Given the description of an element on the screen output the (x, y) to click on. 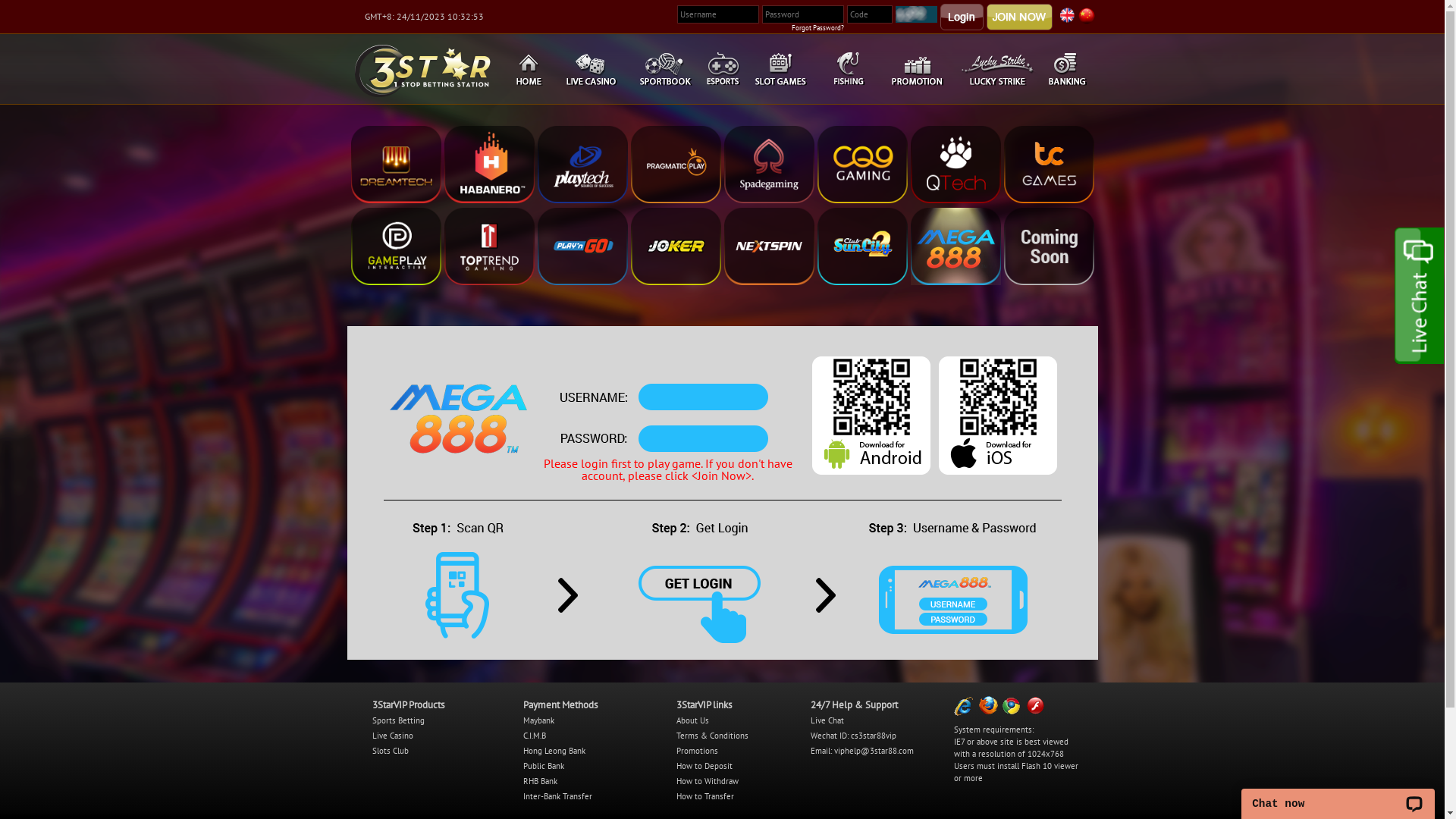
Live Casino Element type: text (391, 735)
Terms & Conditions Element type: text (712, 735)
Promotions Element type: text (697, 750)
How to Withdraw Element type: text (707, 780)
Forgot Password? Element type: text (817, 27)
24/7 Help & Support Element type: text (853, 704)
About Us Element type: text (692, 720)
How to Transfer Element type: text (705, 795)
Slots Club Element type: text (389, 750)
Live Chat Element type: text (826, 720)
How to Deposit Element type: text (704, 765)
Sports Betting Element type: text (397, 720)
